Given the description of an element on the screen output the (x, y) to click on. 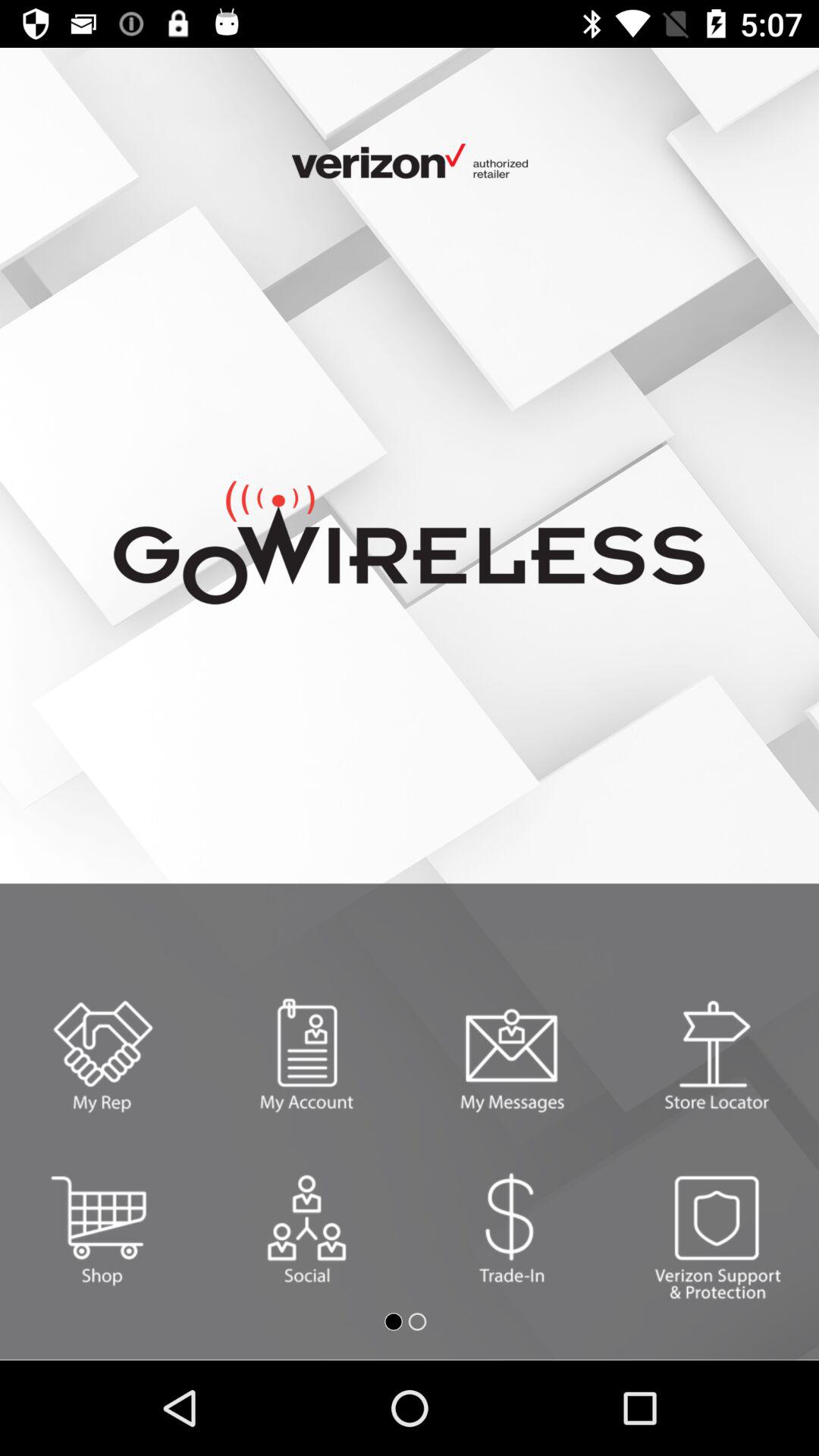
find stores (716, 1055)
